Given the description of an element on the screen output the (x, y) to click on. 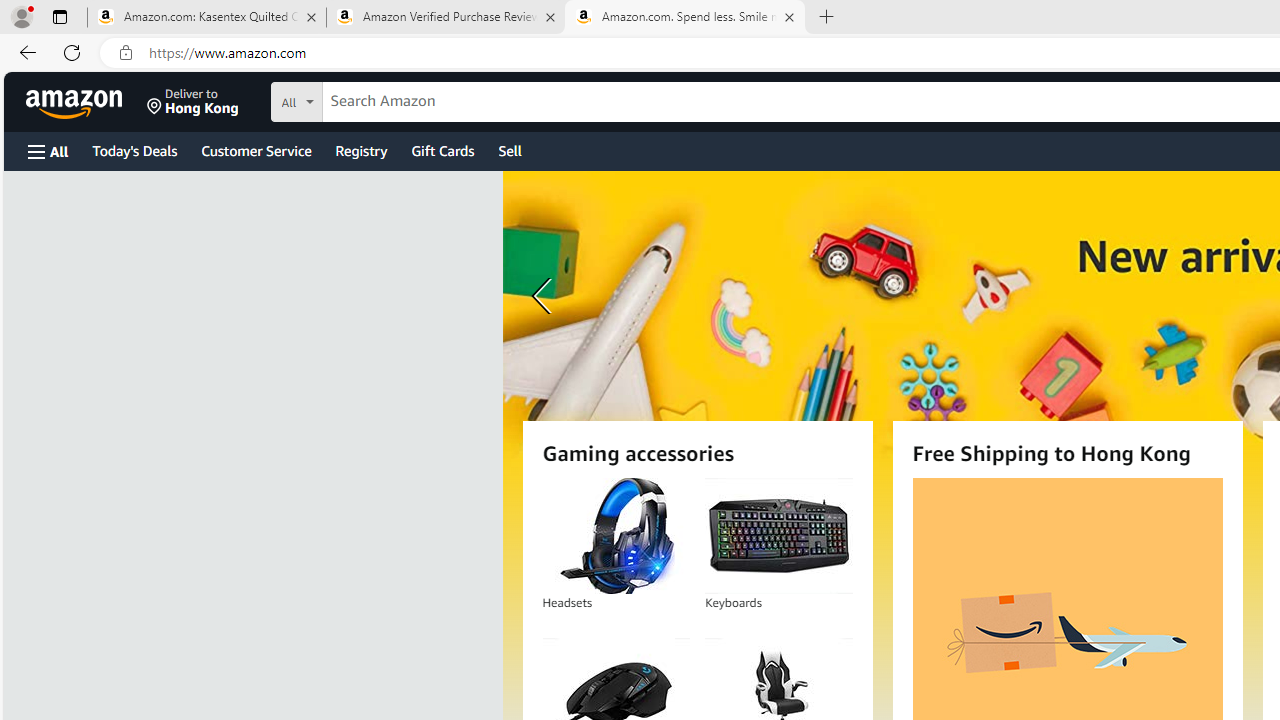
Amazon (76, 101)
Deliver to Hong Kong (193, 101)
Amazon.com. Spend less. Smile more. (684, 17)
Amazon Verified Purchase Reviews - Amazon Customer Service (445, 17)
Keyboards (778, 536)
Open Menu (48, 151)
Customer Service (256, 150)
